Given the description of an element on the screen output the (x, y) to click on. 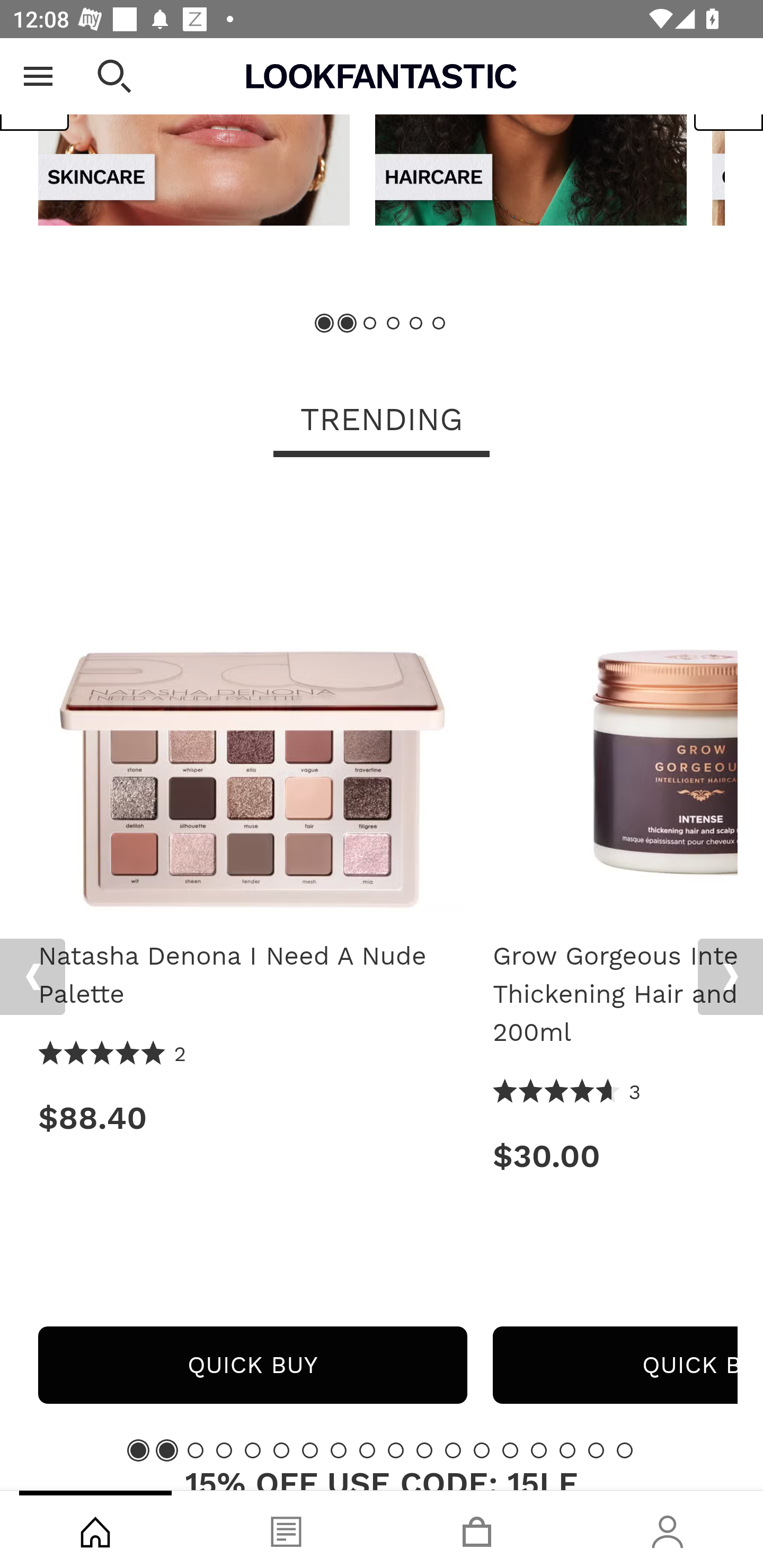
Previous (35, 90)
Showing Slide 1 (Current Item) (324, 323)
Showing Slide 2 (Current Item) (347, 323)
Slide 3 (369, 323)
Slide 4 (393, 323)
Slide 5 (415, 323)
Slide 6 (437, 323)
TRENDING (381, 420)
Natasha Denona I Need A Nude Palette (252, 703)
Natasha Denona I Need A Nude Palette (252, 975)
Previous (32, 976)
Next (730, 976)
5.0 Stars 2 Reviews (112, 1054)
4.67 Stars 3 Reviews (567, 1091)
Price: $88.40 (252, 1117)
Price: $30.00 (614, 1156)
QUICK BUY NATASHA DENONA I NEED A NUDE PALETTE (252, 1364)
Showing Slide 1 (Current Item) (138, 1449)
Showing Slide 2 (Current Item) (166, 1449)
Slide 3 (195, 1449)
Slide 4 (223, 1449)
Slide 5 (252, 1449)
Slide 6 (281, 1449)
Slide 7 (310, 1449)
Slide 8 (338, 1449)
Slide 9 (367, 1449)
Slide 10 (395, 1449)
Slide 11 (424, 1449)
Slide 12 (452, 1449)
Slide 13 (481, 1449)
Slide 14 (510, 1449)
Slide 15 (539, 1449)
Slide 16 (567, 1449)
Slide 17 (596, 1449)
Slide 18 (624, 1449)
Shop, tab, 1 of 4 (95, 1529)
Blog, tab, 2 of 4 (285, 1529)
Basket, tab, 3 of 4 (476, 1529)
Account, tab, 4 of 4 (667, 1529)
